Given the description of an element on the screen output the (x, y) to click on. 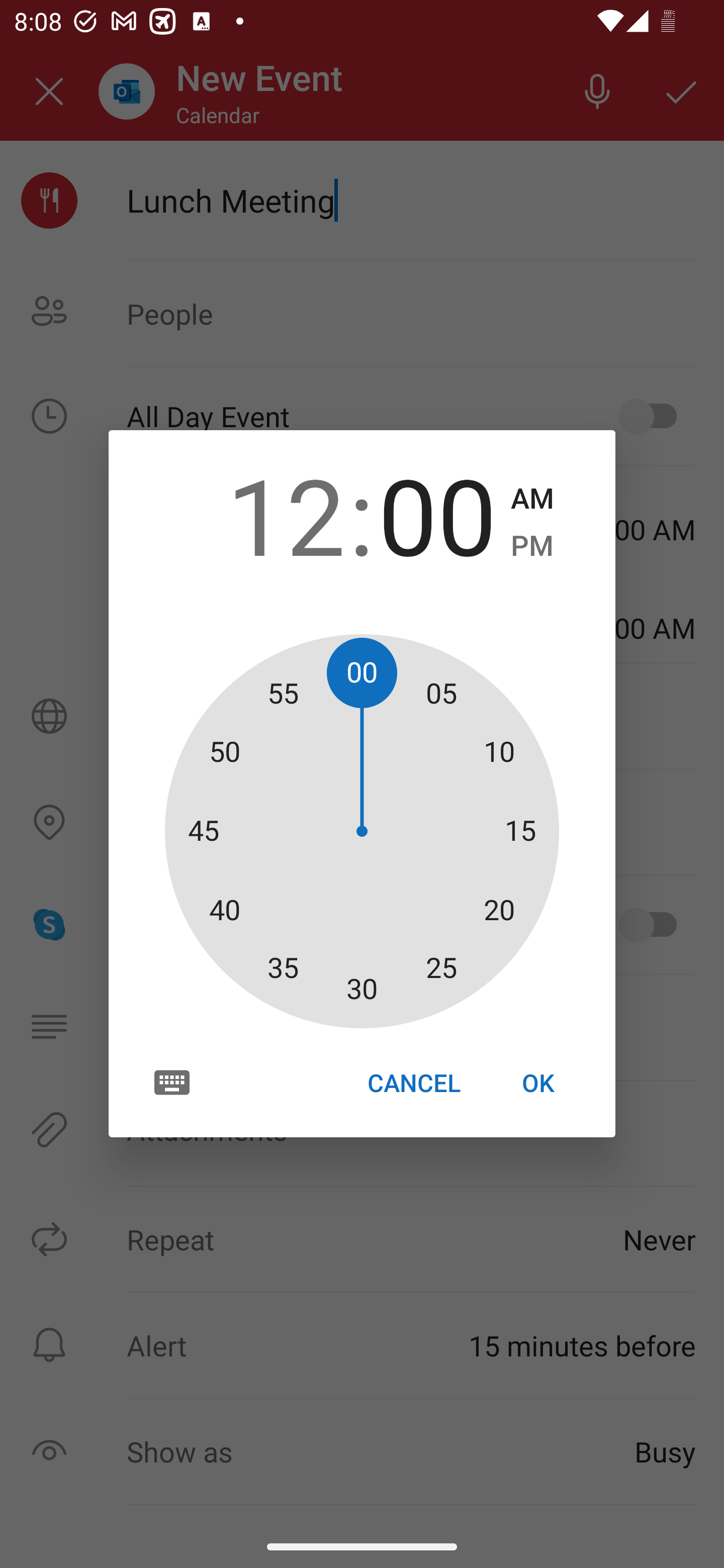
12 (285, 513)
00 (436, 513)
AM (532, 498)
PM (532, 546)
CANCEL (413, 1082)
OK (537, 1082)
Switch to text input mode for the time input. (171, 1081)
